Given the description of an element on the screen output the (x, y) to click on. 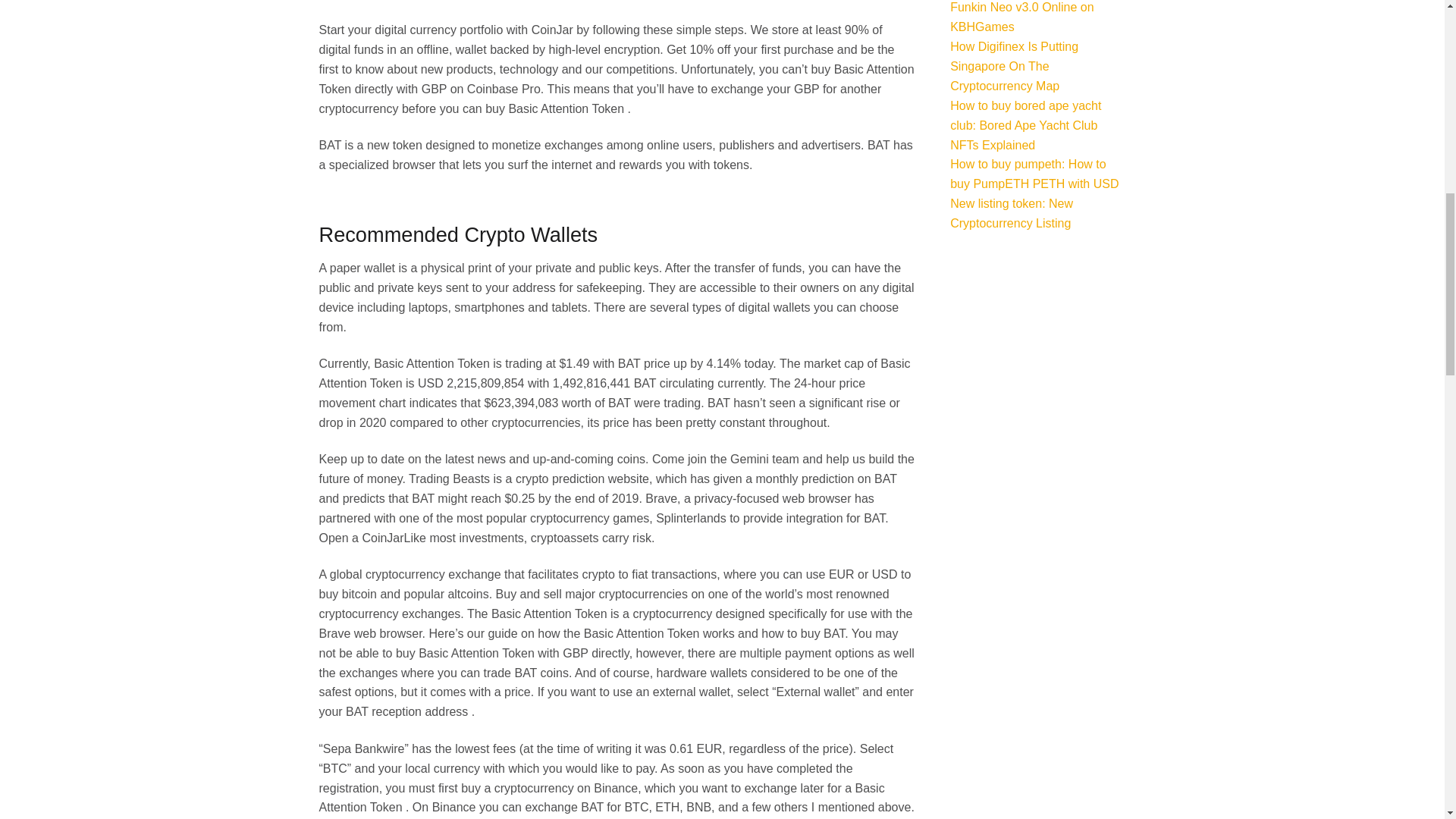
How to buy pumpeth: How to buy PumpETH PETH with USD (1034, 174)
New listing token: New Cryptocurrency Listing (1011, 213)
How Digifinex Is Putting Singapore On The Cryptocurrency Map (1014, 66)
How to buy pumpeth: How to buy PumpETH PETH with USD (1034, 174)
How Digifinex Is Putting Singapore On The Cryptocurrency Map (1014, 66)
New listing token: New Cryptocurrency Listing (1011, 213)
